Given the description of an element on the screen output the (x, y) to click on. 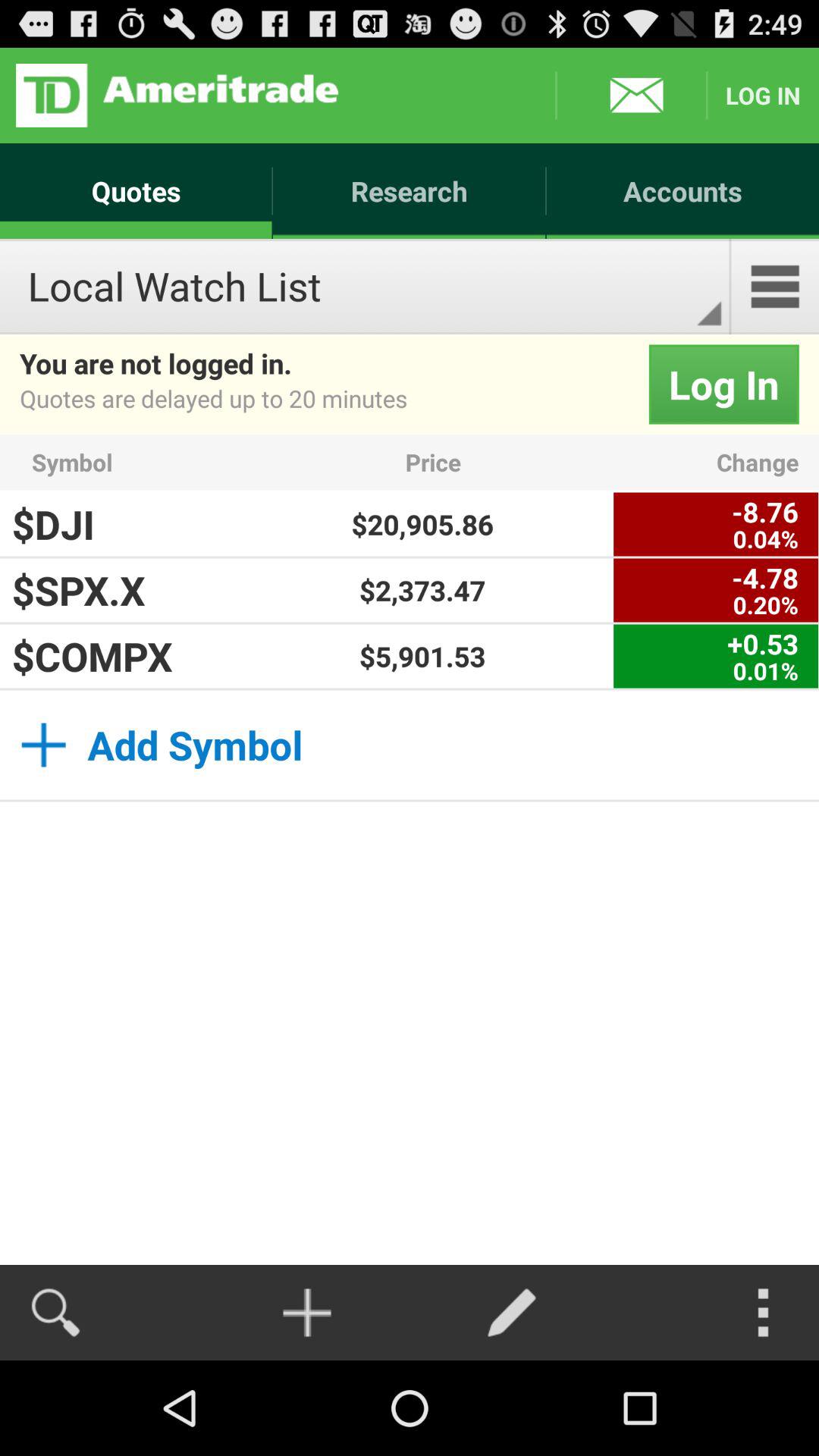
choose app above $20,905.86 item (504, 462)
